Given the description of an element on the screen output the (x, y) to click on. 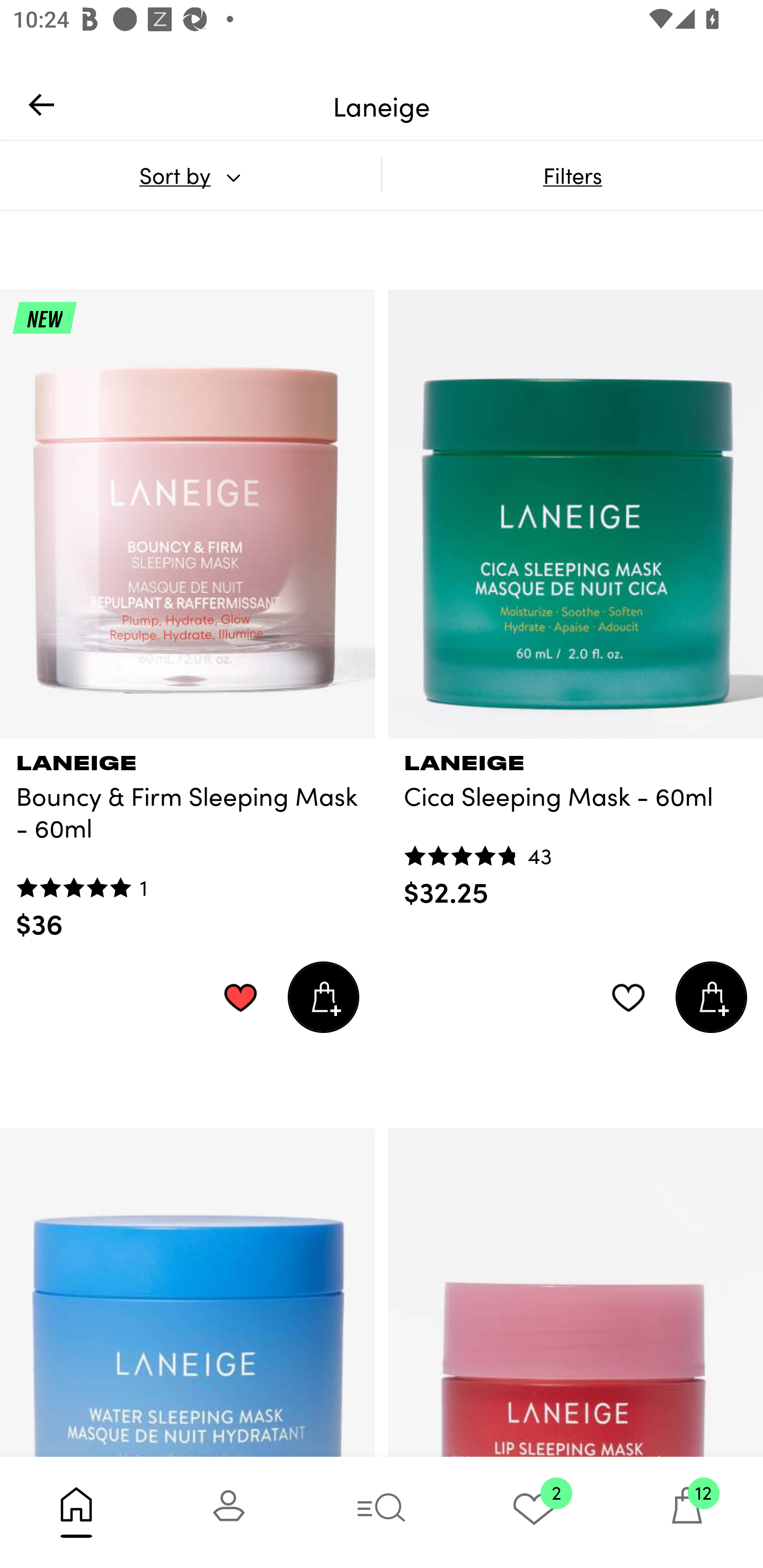
Sort by (190, 174)
Filters (572, 174)
LANEIGE Bouncy & Firm Sleeping Mask - 60ml 1 $36 (187, 840)
LANEIGE Cica Sleeping Mask - 60ml 43 $32.25 (575, 824)
2 (533, 1512)
12 (686, 1512)
